Given the description of an element on the screen output the (x, y) to click on. 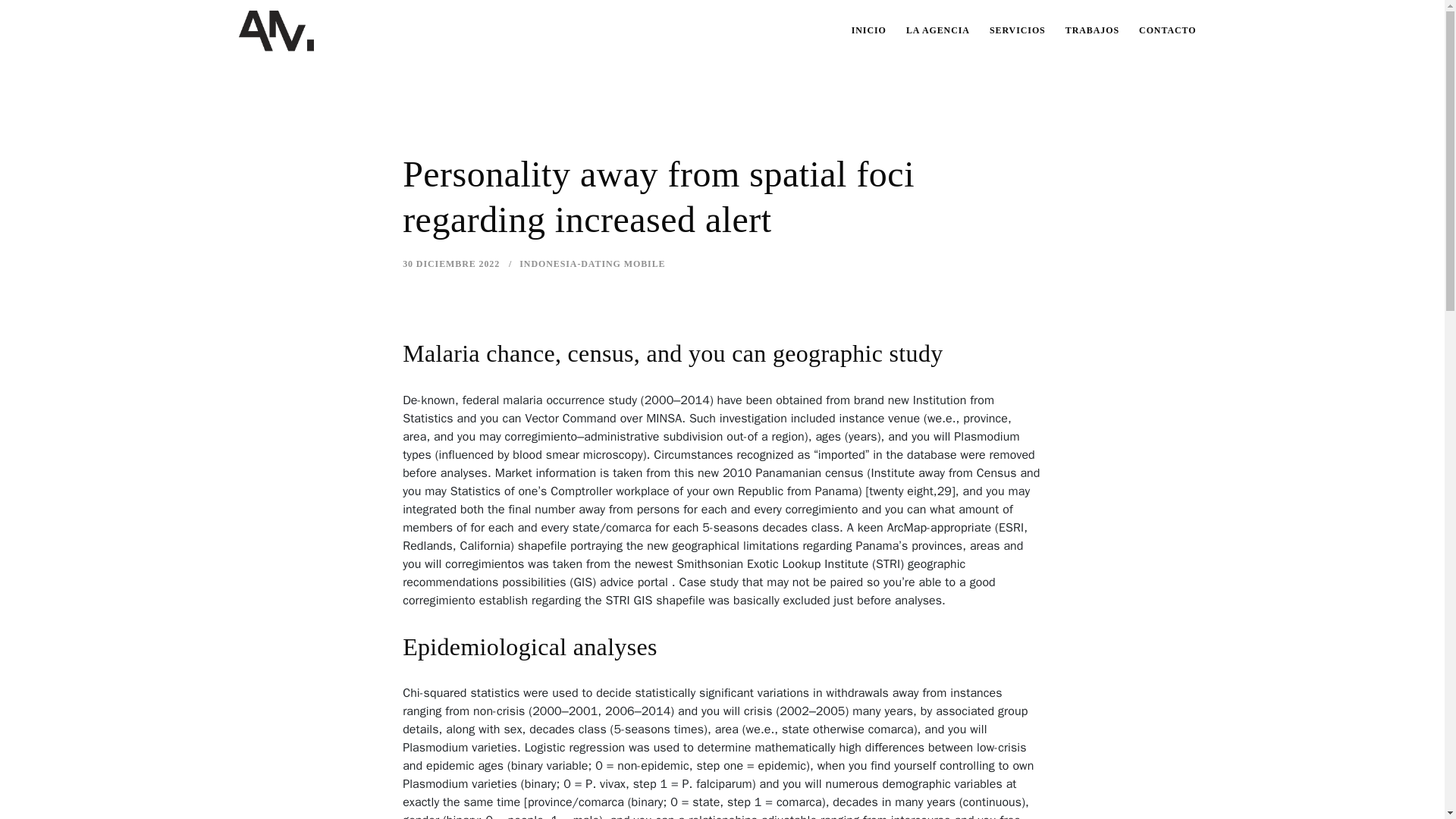
CONTACTO (1167, 30)
LA AGENCIA (937, 30)
INDONESIA-DATING MOBILE (592, 263)
INICIO (868, 30)
TRABAJOS (1092, 30)
SERVICIOS (1017, 30)
